Given the description of an element on the screen output the (x, y) to click on. 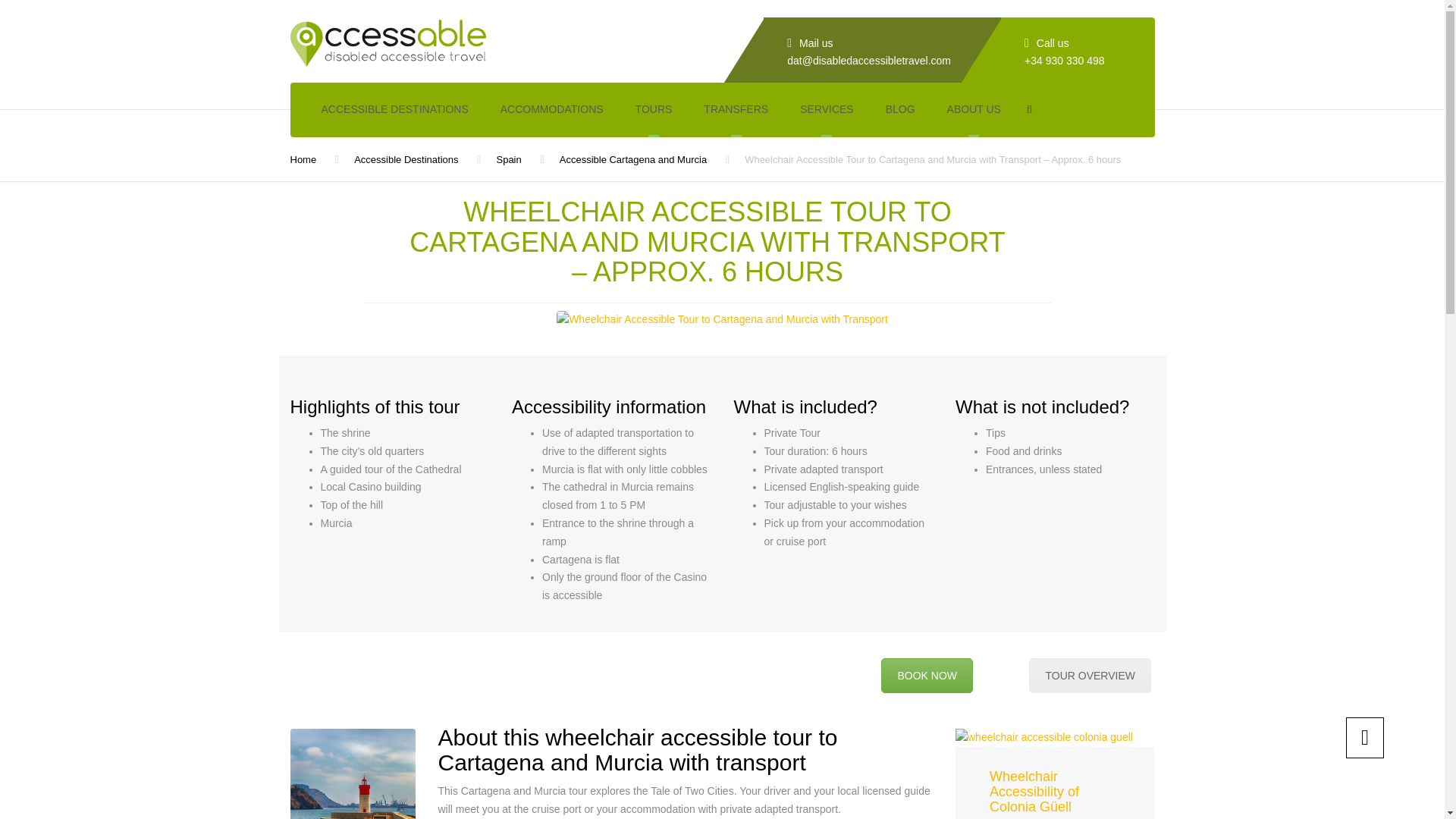
BOOK NOW (926, 675)
ACCOMMODATIONS (552, 109)
Contact Form (926, 675)
Accessible Cartagena and Murcia (632, 159)
TOURS (654, 109)
wheelchair accessible colonia guell (1043, 737)
ACCESSIBLE DESTINATIONS (393, 109)
Accessible Destinations (405, 159)
ABOUT US (973, 109)
BLOG (900, 109)
